Given the description of an element on the screen output the (x, y) to click on. 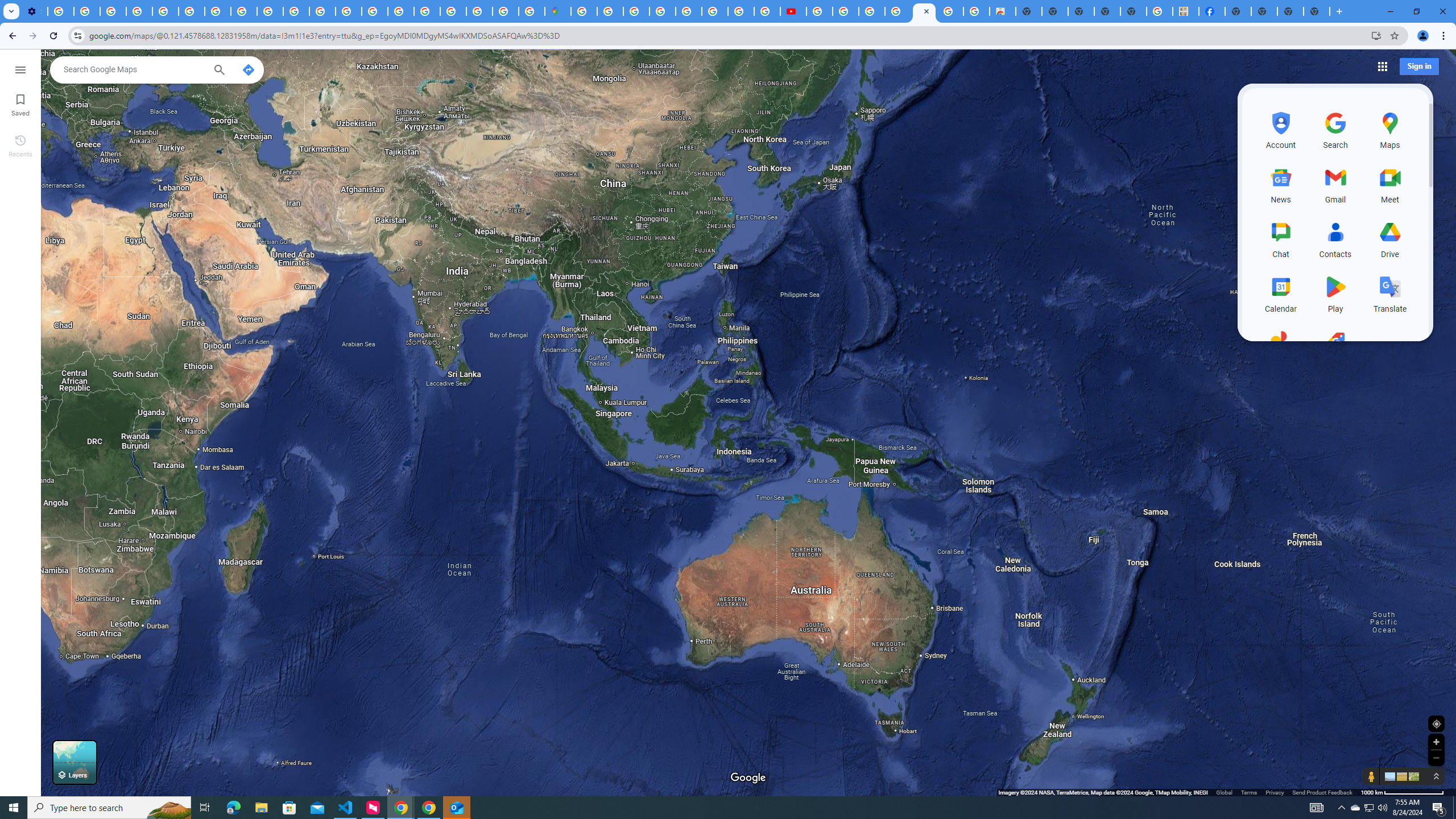
Show imagery (1412, 776)
Settings - Customize profile (34, 11)
Chrome Web Store - Shopping (1002, 11)
Show Street View coverage (1371, 776)
Miley Cyrus | Facebook (1211, 11)
Sign in - Google Accounts (584, 11)
Privacy Help Center - Policies Help (165, 11)
